Given the description of an element on the screen output the (x, y) to click on. 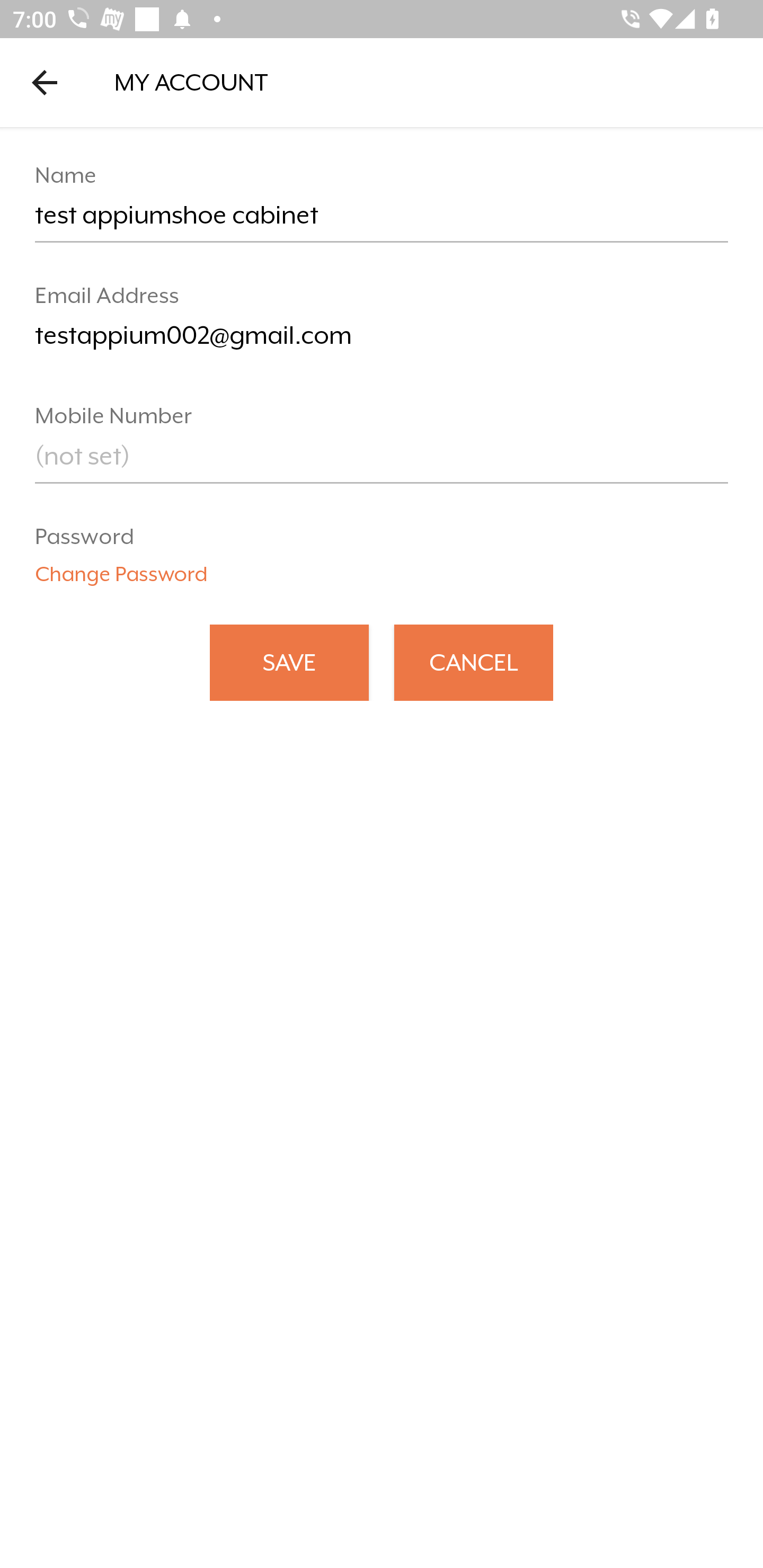
Navigate up (44, 82)
test appiumshoe cabinet (381, 222)
testappium002@gmail.com (381, 342)
(not set) (381, 462)
Change Password (121, 567)
SAVE (288, 662)
CANCEL (473, 662)
